Given the description of an element on the screen output the (x, y) to click on. 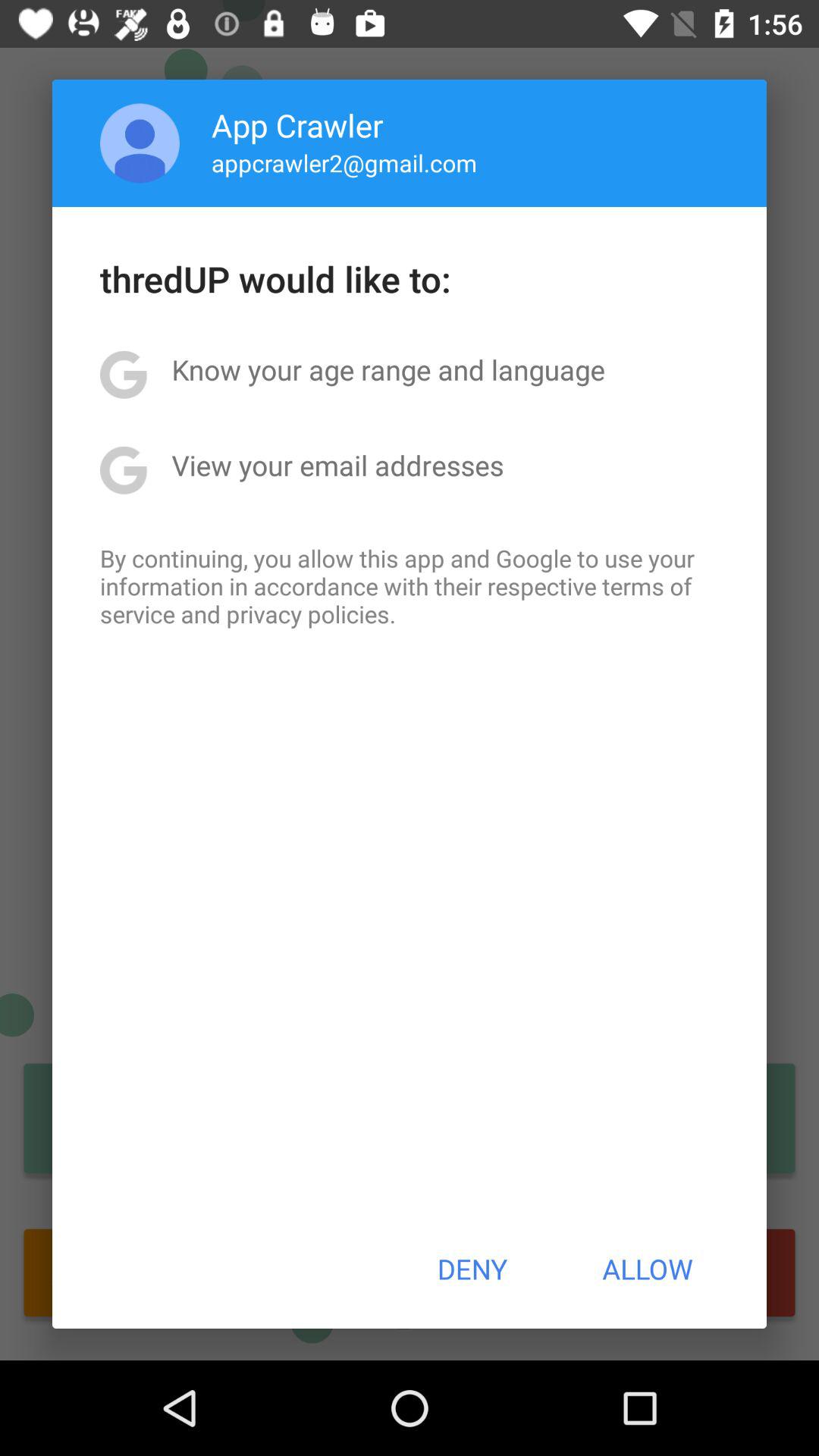
turn off item below app crawler icon (344, 162)
